Given the description of an element on the screen output the (x, y) to click on. 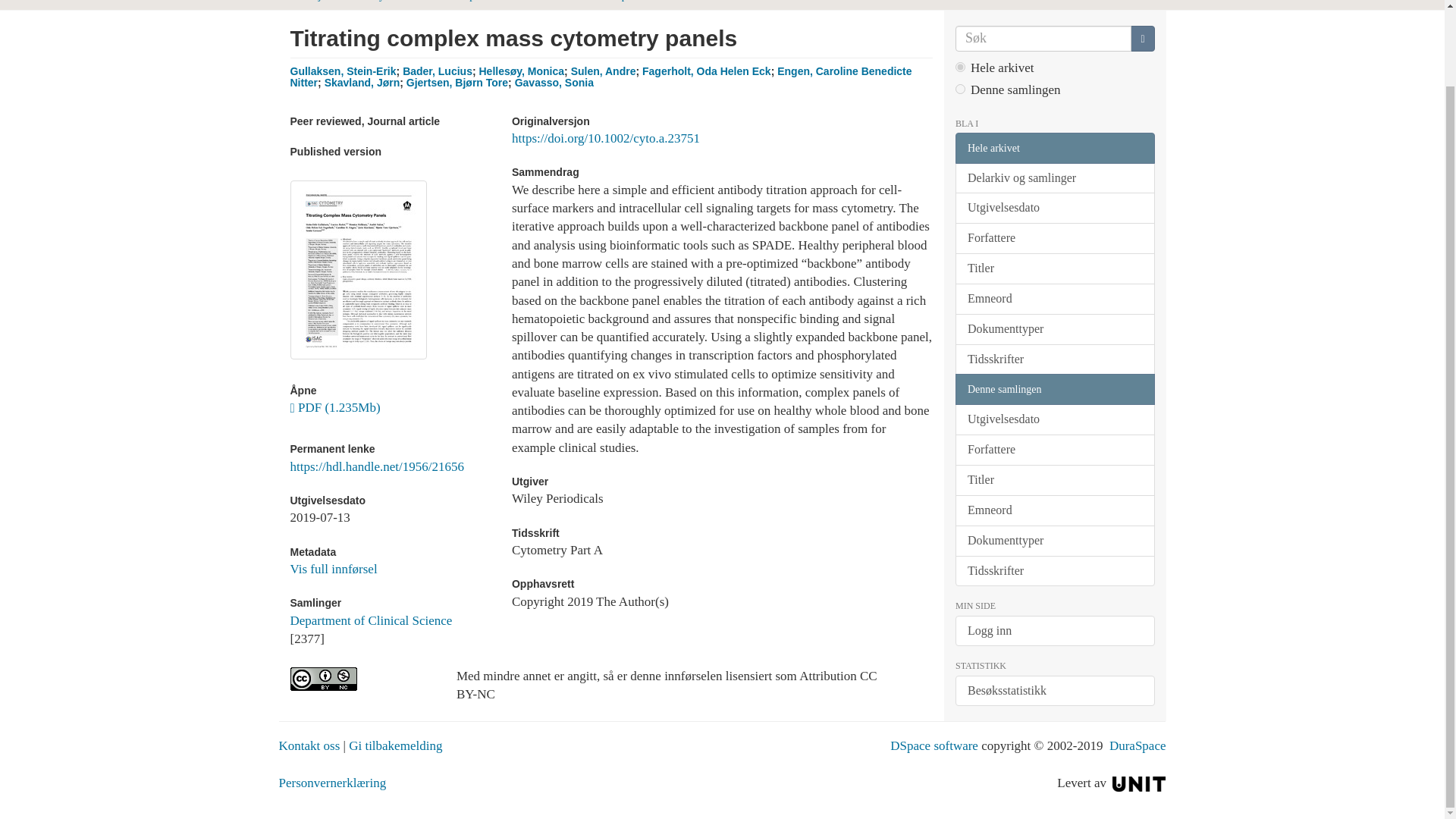
Department of Clinical Science (524, 0)
Fagerholt, Oda Helen Eck (706, 70)
Attribution CC BY-NC (360, 679)
Engen, Caroline Benedicte Nitter (600, 76)
Department of Clinical Science (676, 0)
Sulen, Andre (603, 70)
Unit (1139, 782)
Faculty of Medicine (395, 0)
Gavasso, Sonia (554, 82)
Bader, Lucius (437, 70)
